Given the description of an element on the screen output the (x, y) to click on. 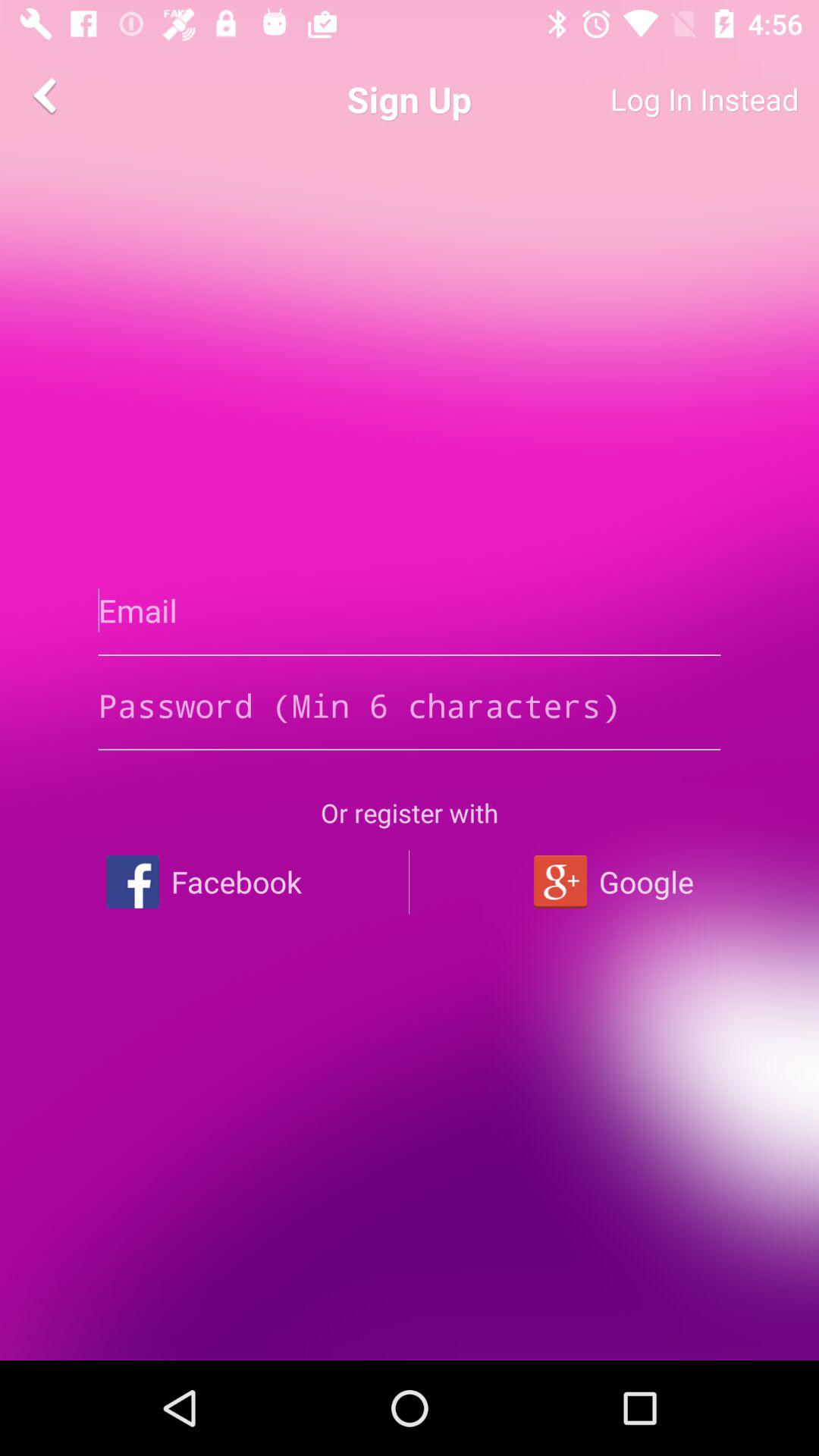
select the icon to the right of the sign up app (649, 99)
